Given the description of an element on the screen output the (x, y) to click on. 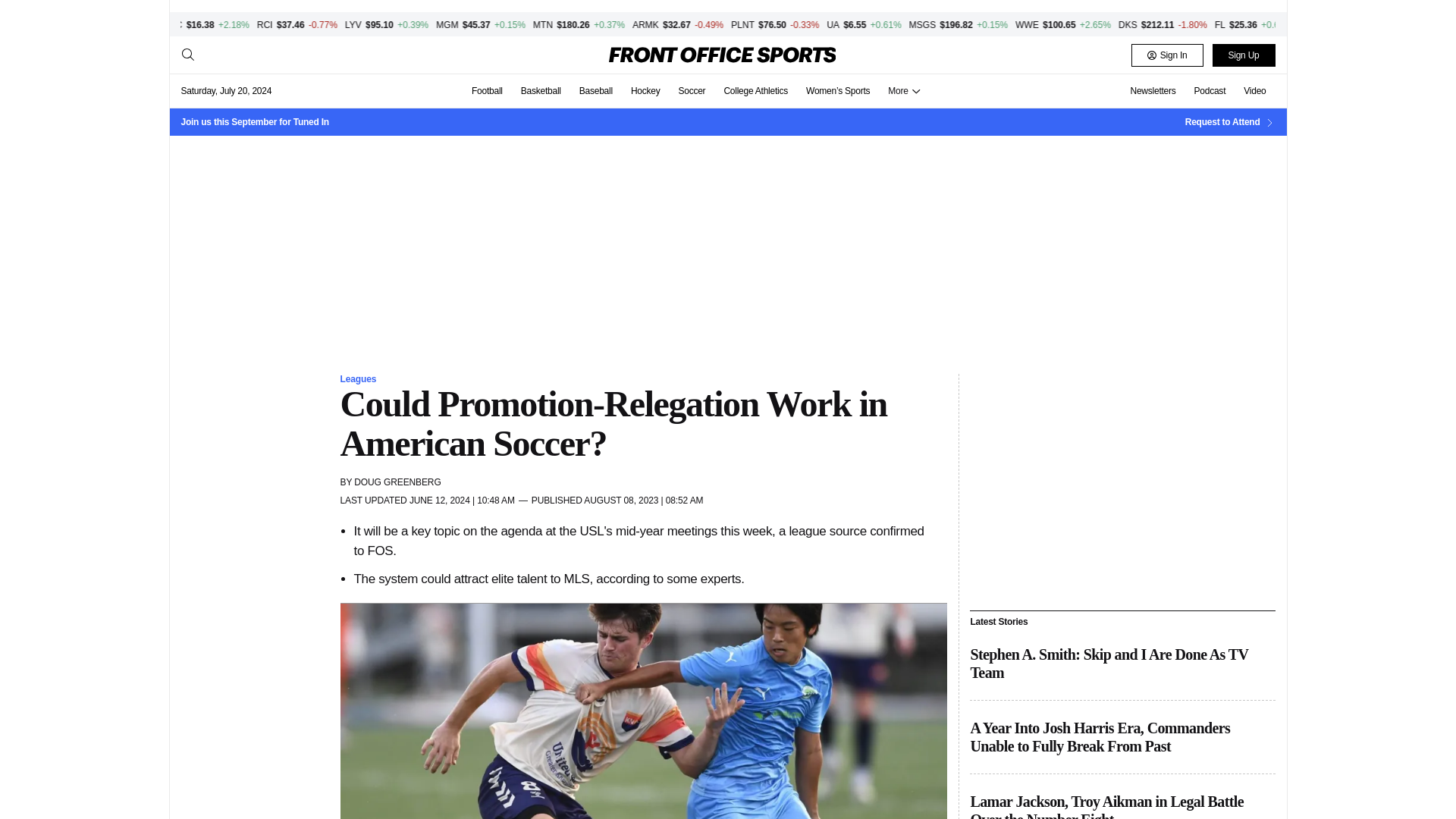
Podcast (1209, 90)
More (904, 90)
Newsletters (1153, 90)
Football (487, 90)
Baseball (595, 90)
College Athletics (755, 90)
Sign In (1167, 55)
Hockey (645, 90)
Sign Up (1243, 55)
Basketball (541, 90)
Soccer (691, 90)
Video (1254, 90)
